Given the description of an element on the screen output the (x, y) to click on. 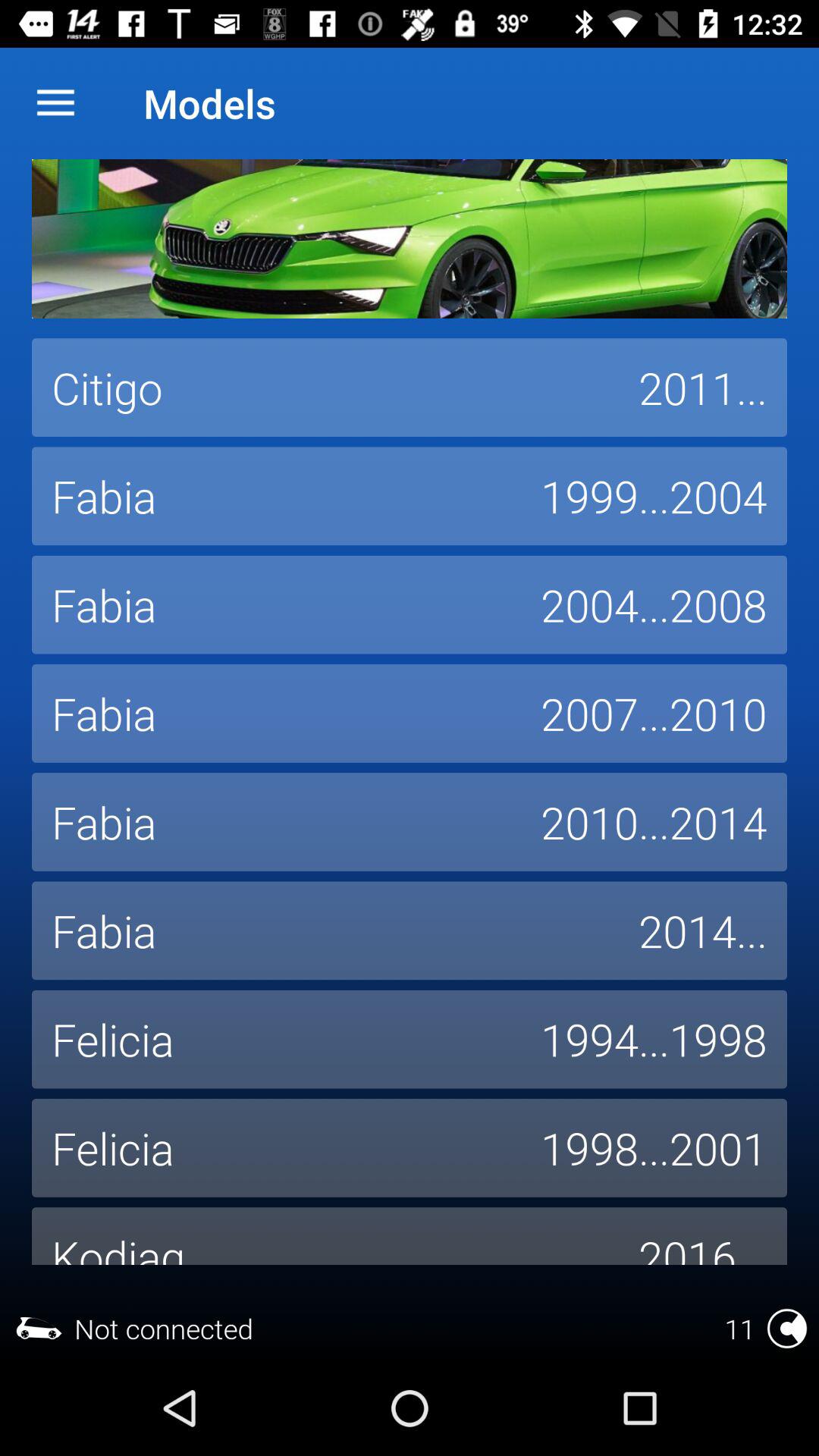
choose the icon to the left of the 2016... (324, 1235)
